Given the description of an element on the screen output the (x, y) to click on. 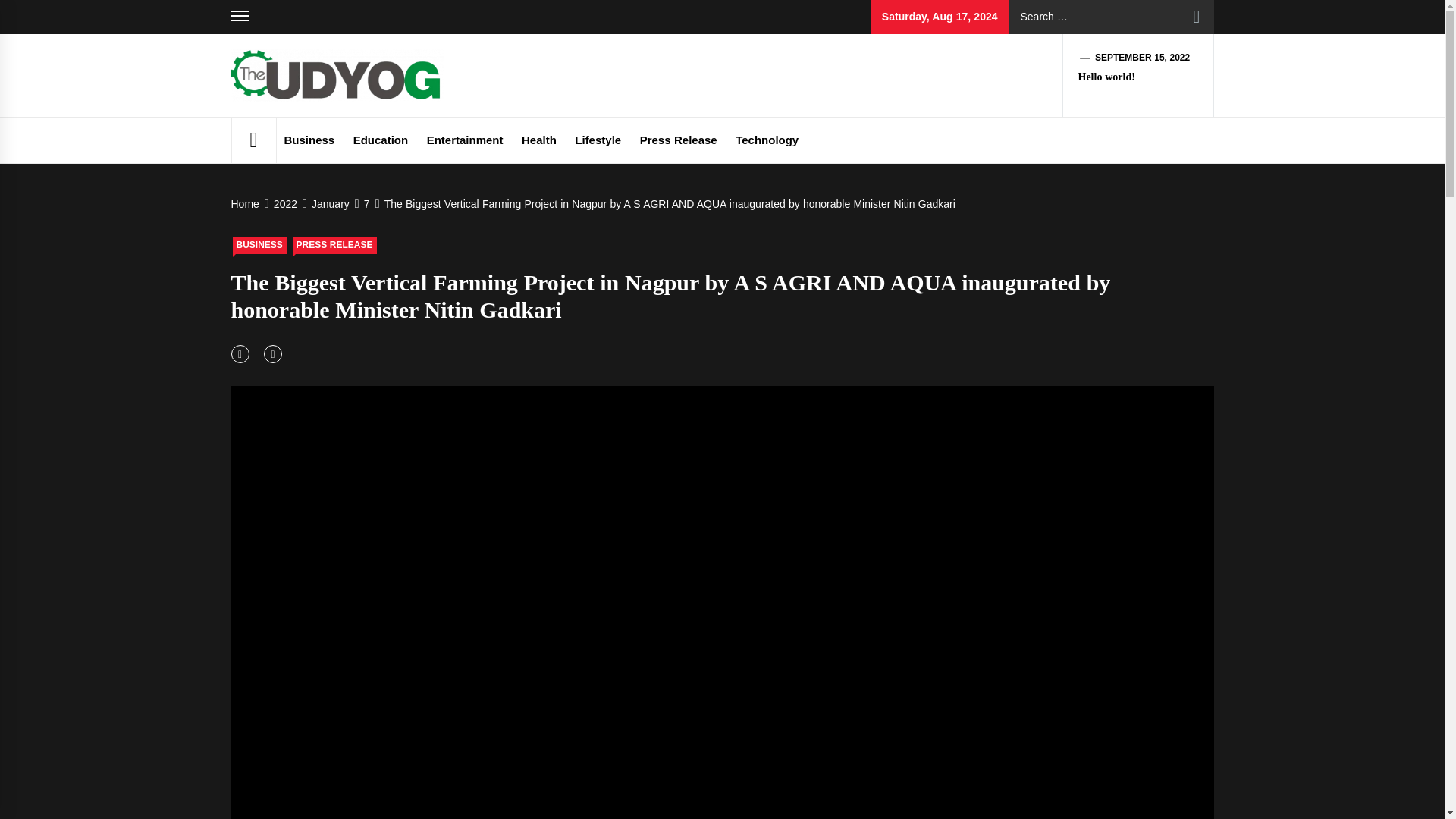
PRESS RELEASE (334, 245)
Health (538, 139)
Entertainment (465, 139)
Hello world! (1106, 76)
January (328, 203)
Technology (767, 139)
BUSINESS (258, 245)
Search (1196, 17)
7 (365, 203)
